Given the description of an element on the screen output the (x, y) to click on. 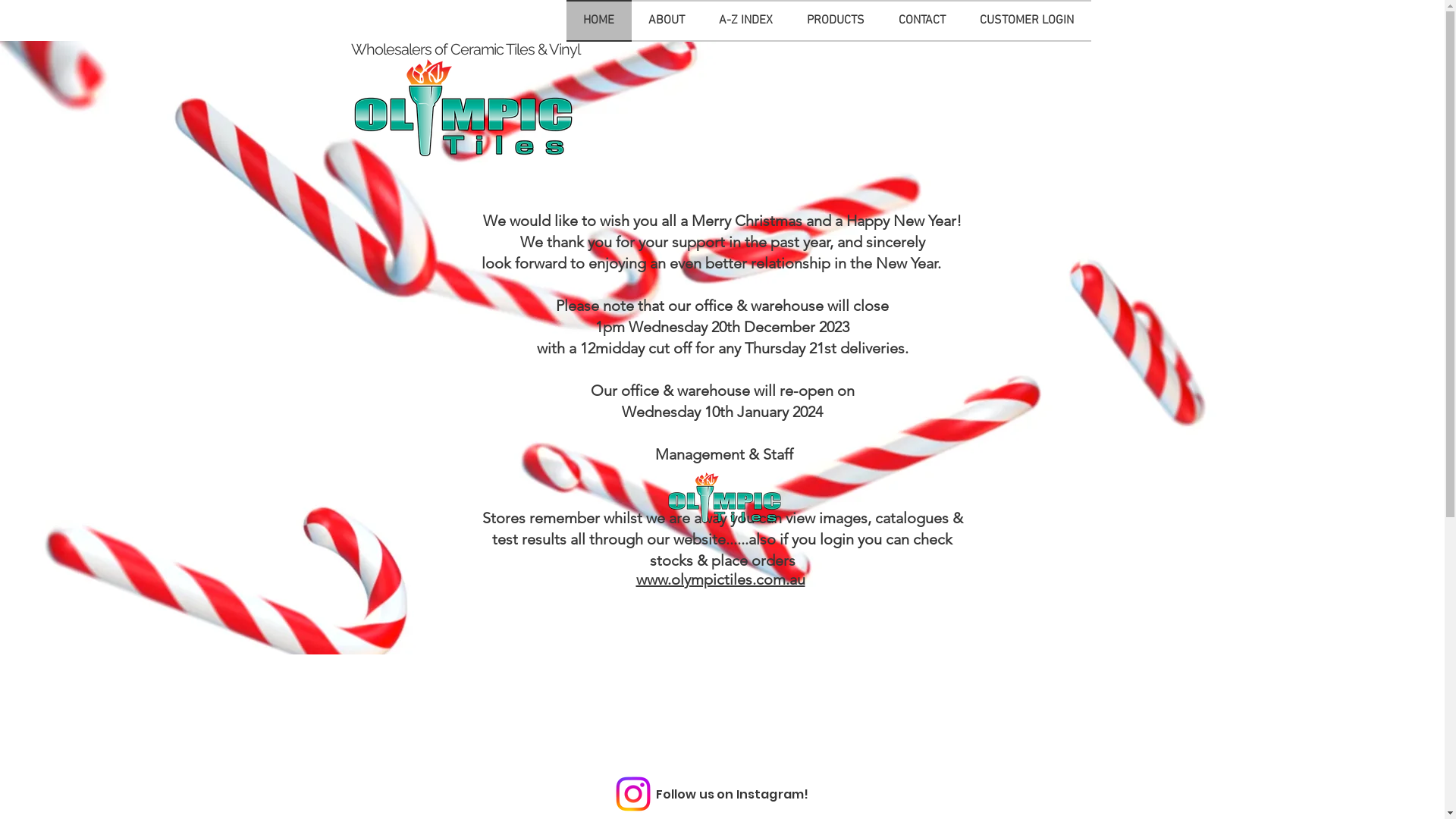
CONTACT Element type: text (921, 20)
www.olympictiles.com.au Element type: text (719, 579)
HOME Element type: text (597, 20)
ABOUT Element type: text (665, 20)
A-Z INDEX Element type: text (746, 20)
PRODUCTS Element type: text (835, 20)
CUSTOMER LOGIN Element type: text (1027, 20)
